Given the description of an element on the screen output the (x, y) to click on. 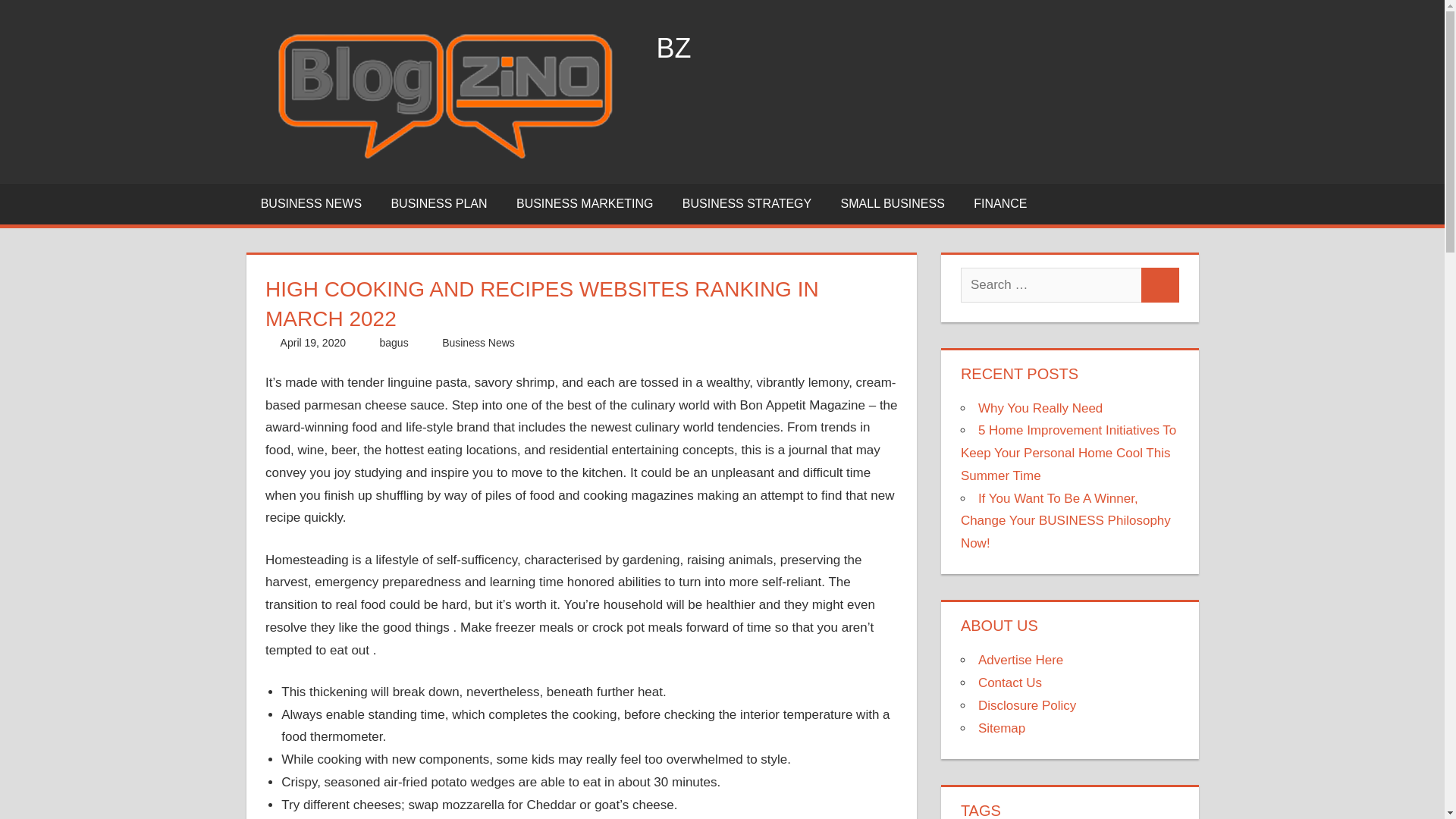
BZ (673, 47)
bagus (392, 342)
FINANCE (1000, 203)
Sitemap (1001, 728)
April 19, 2020 (313, 342)
Search (1160, 284)
BUSINESS STRATEGY (747, 203)
Business News (478, 342)
4:41 pm (313, 342)
Why You Really Need (1040, 408)
Contact Us (1010, 682)
Advertise Here (1020, 659)
BUSINESS NEWS (310, 203)
View all posts by bagus (392, 342)
